Given the description of an element on the screen output the (x, y) to click on. 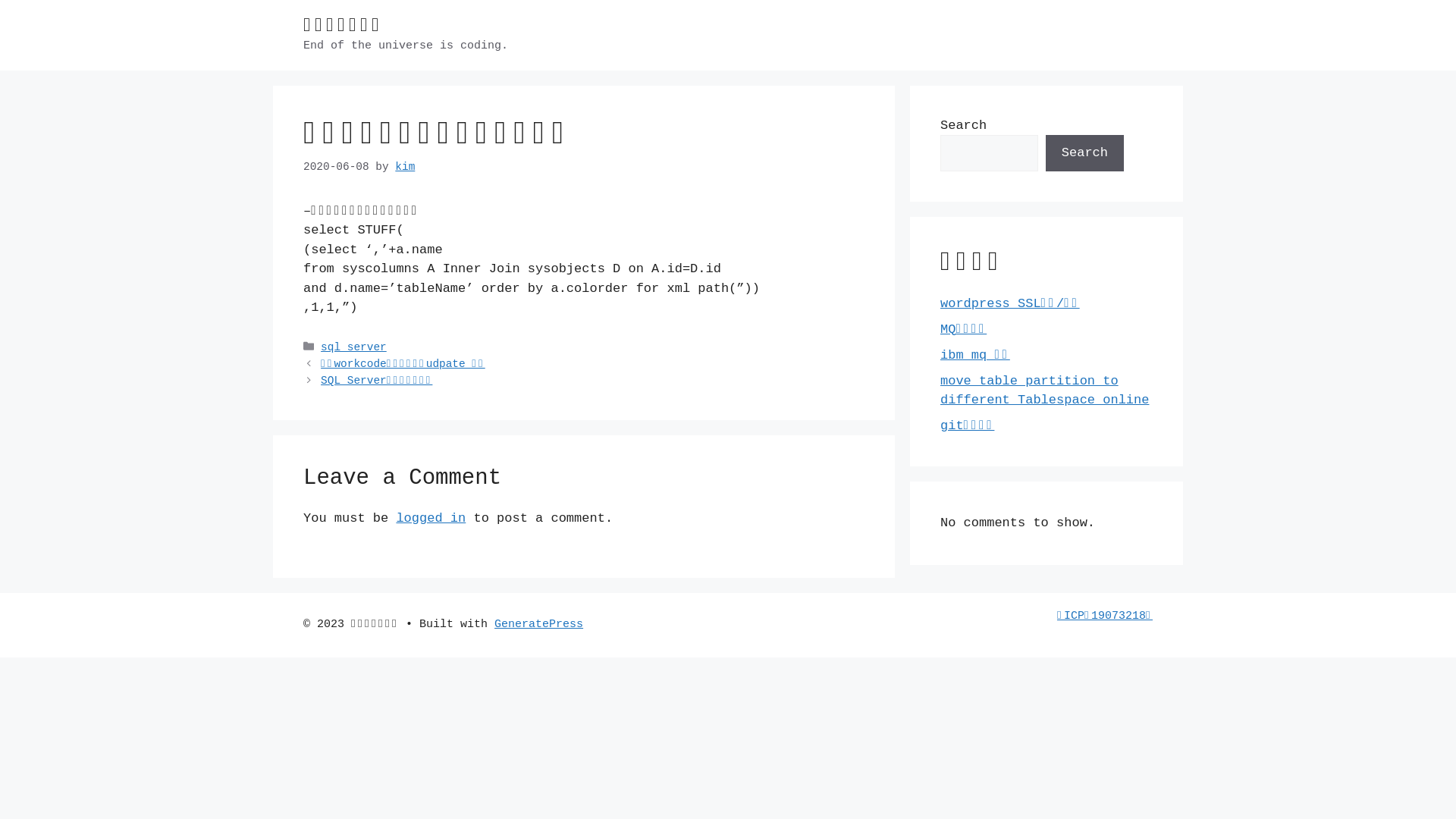
kim Element type: text (404, 166)
move table partition to different Tablespace online Element type: text (1044, 390)
GeneratePress Element type: text (538, 624)
logged in Element type: text (430, 518)
sql server Element type: text (353, 347)
Search Element type: text (1084, 152)
